Given the description of an element on the screen output the (x, y) to click on. 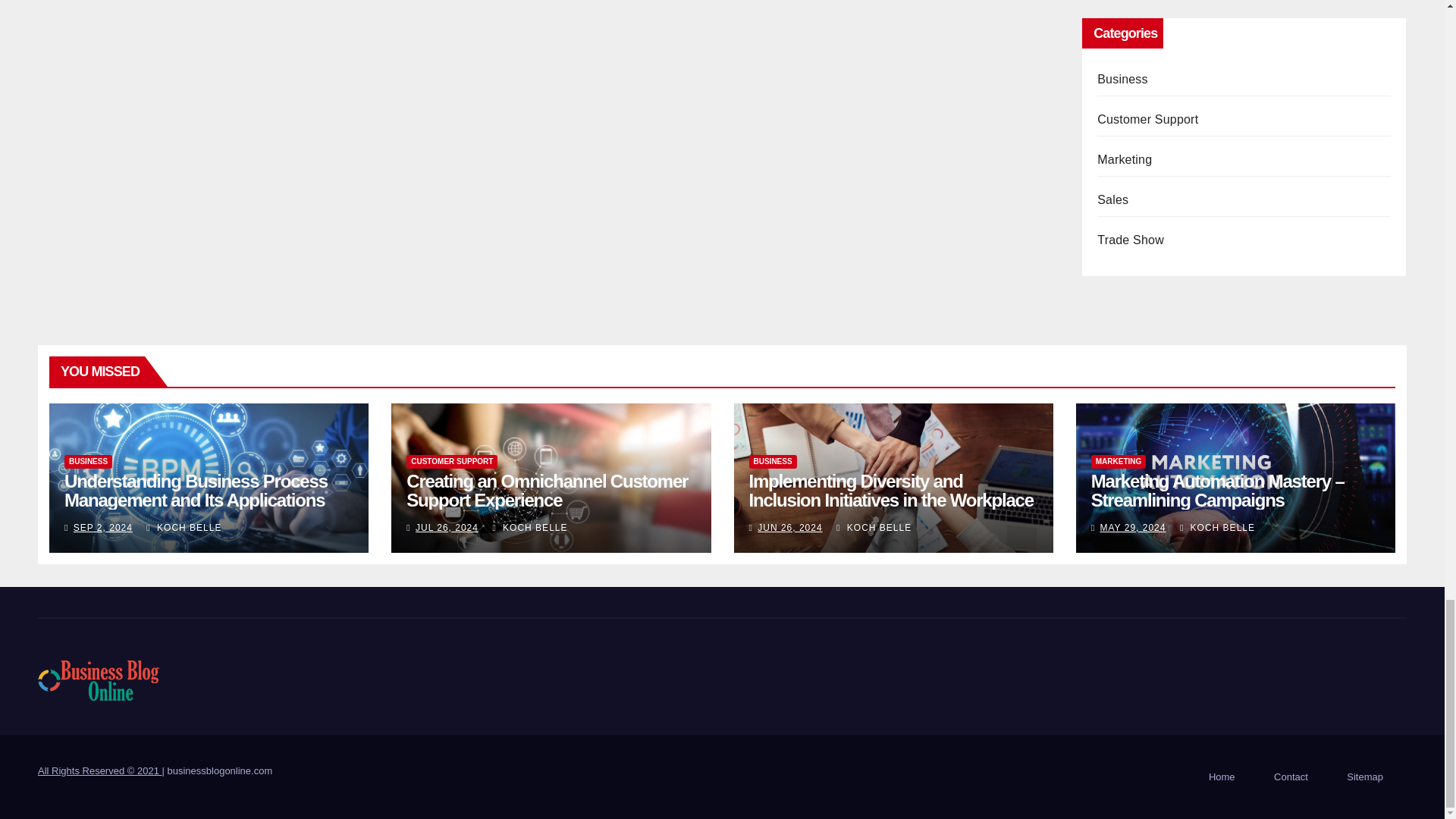
Contact (1291, 776)
Sitemap (1364, 776)
Home (1221, 776)
